Given the description of an element on the screen output the (x, y) to click on. 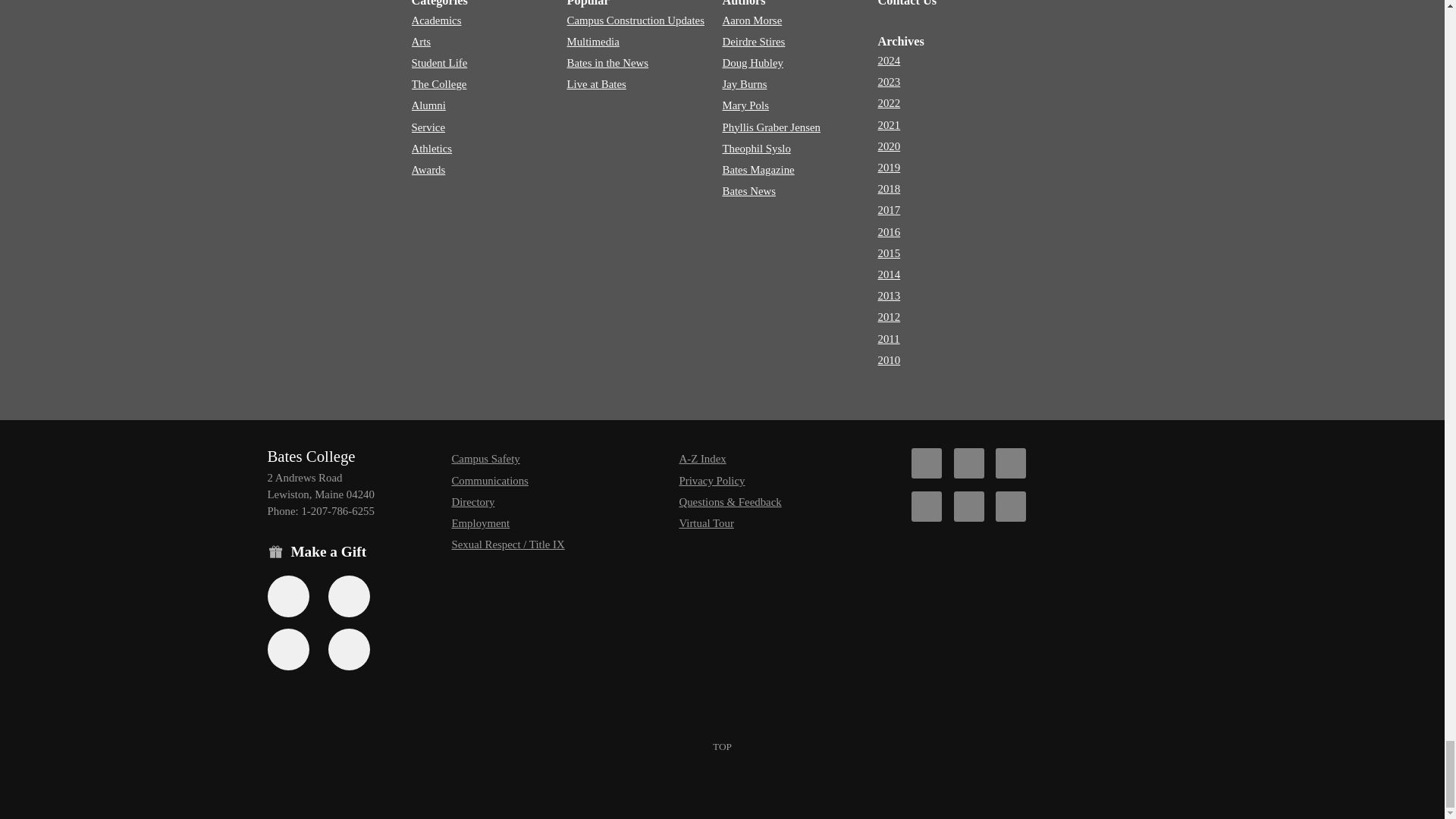
Use your Amazon account to make a gift. (348, 596)
Use your PayPal account to make a gift. (287, 649)
